Given the description of an element on the screen output the (x, y) to click on. 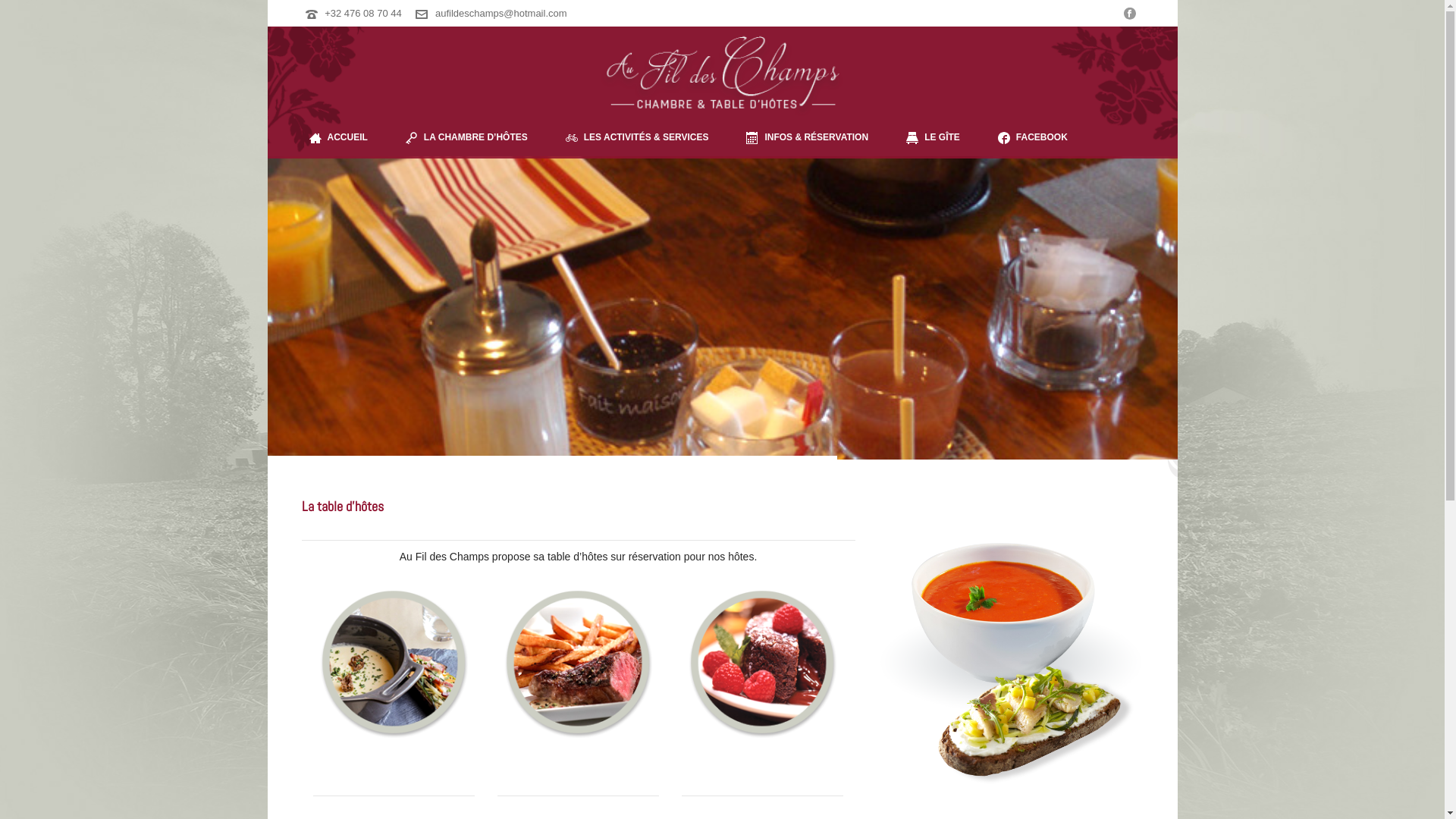
soupe-tomate Element type: hover (1010, 663)
aufildeschamps@hotmail.com Element type: text (501, 12)
soupe Element type: hover (392, 662)
ACCUEIL Element type: text (337, 138)
+32 476 08 70 44 Element type: text (362, 12)
dessert Element type: hover (762, 662)
plat Element type: hover (577, 662)
FACEBOOK Element type: text (1032, 138)
